Given the description of an element on the screen output the (x, y) to click on. 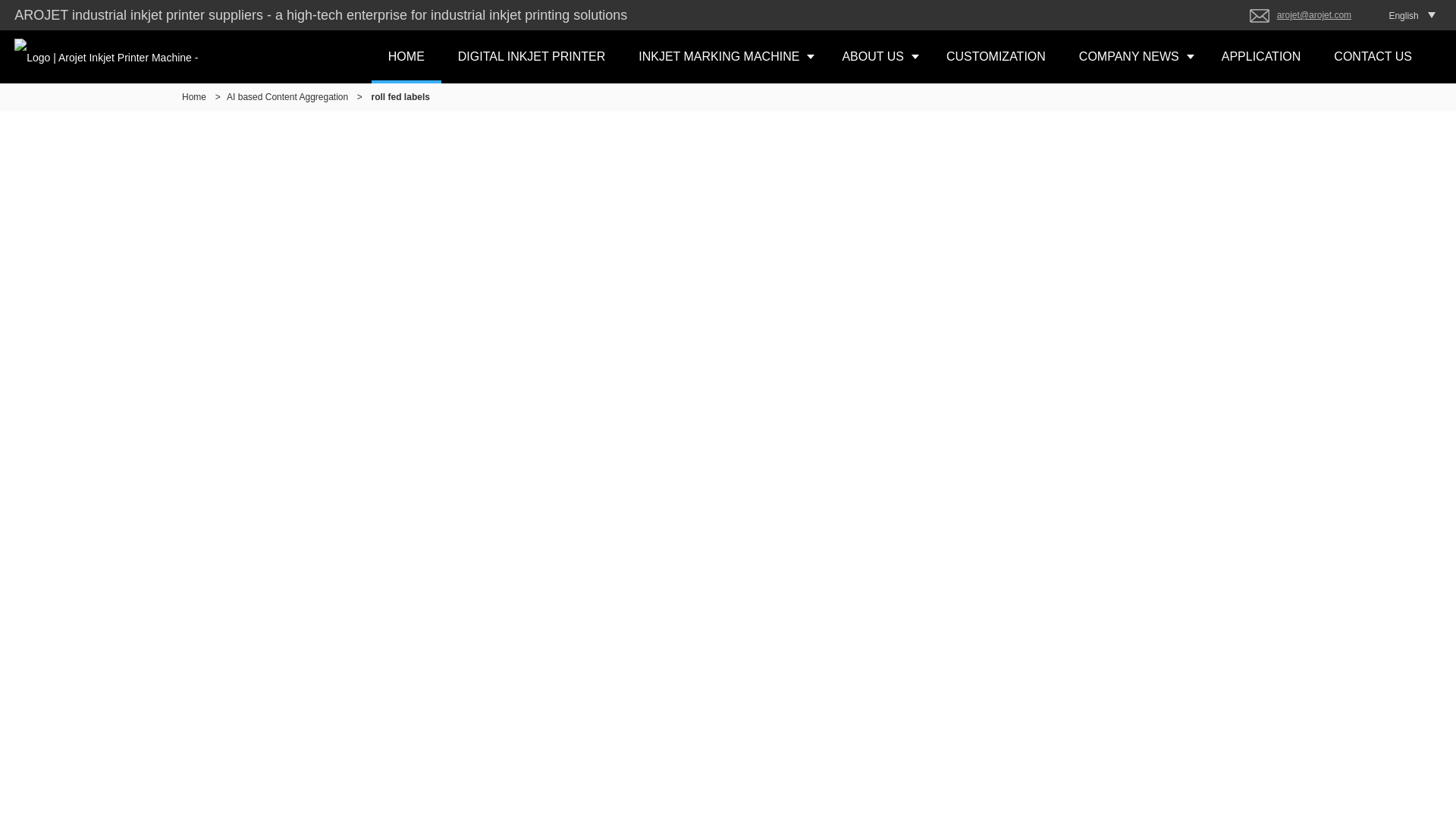
AI based Content Aggregation (287, 96)
ABOUT US (877, 56)
APPLICATION (1261, 56)
CONTACT US (1372, 56)
INKJET MARKING MACHINE (723, 56)
COMPANY NEWS (1133, 56)
HOME (406, 56)
Home (194, 96)
DIGITAL INKJET PRINTER (531, 56)
CUSTOMIZATION (996, 56)
